Given the description of an element on the screen output the (x, y) to click on. 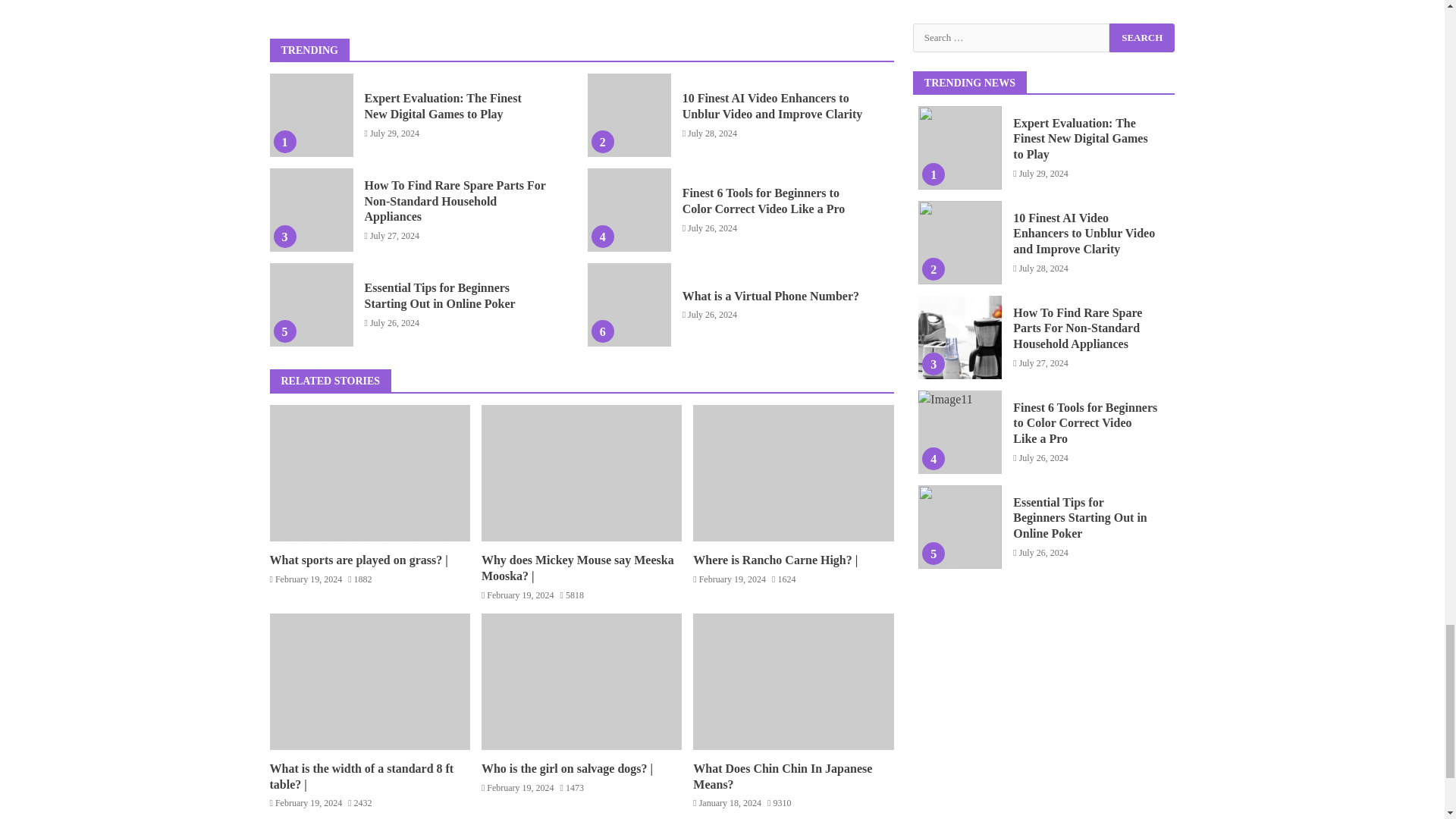
Expert Evaluation: The Finest New Digital Games to Play (311, 115)
